Given the description of an element on the screen output the (x, y) to click on. 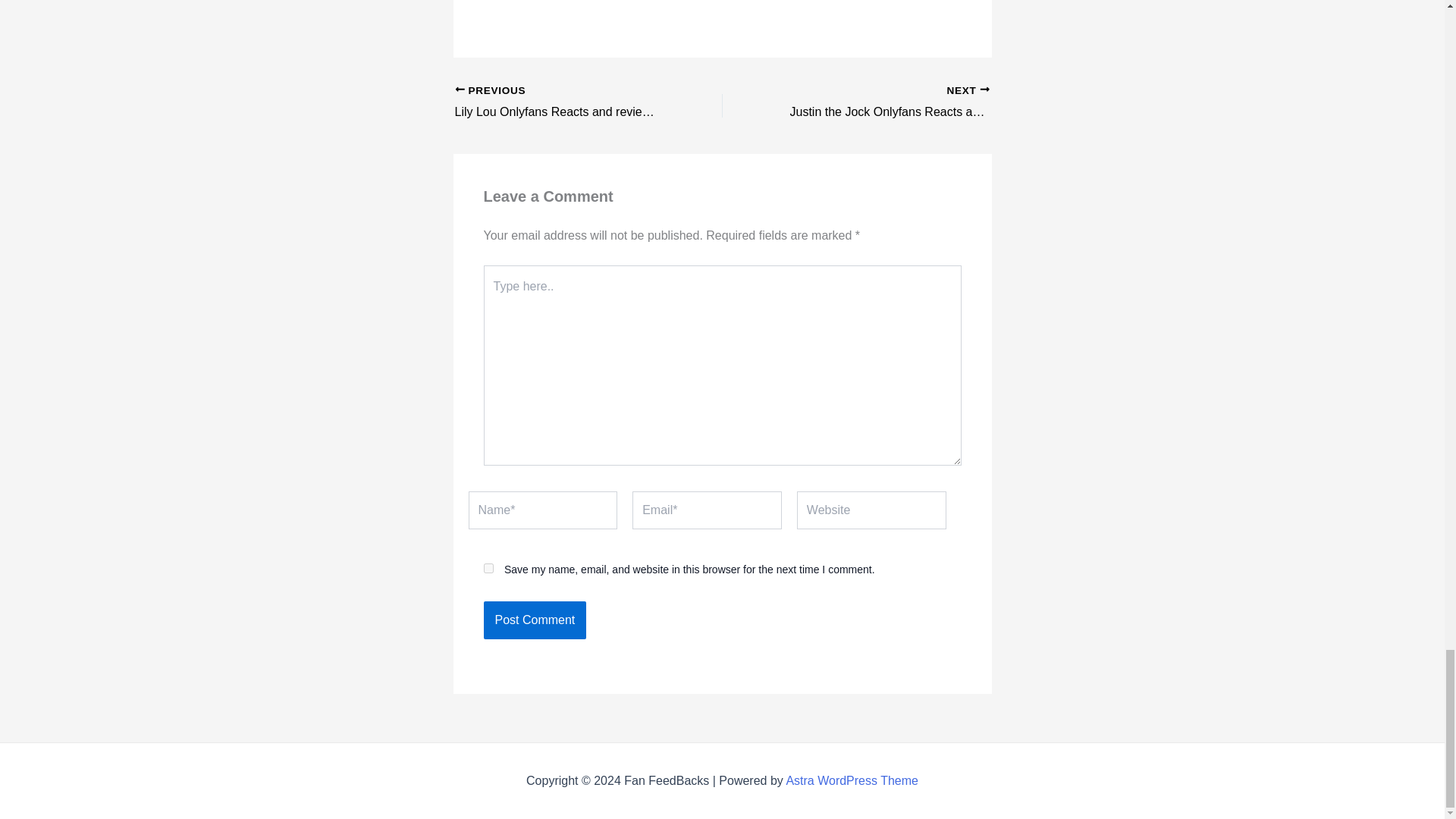
Astra WordPress Theme (852, 780)
Justin the Jock Onlyfans  Reacts and reviews (882, 102)
Lily Lou Onlyfans  Reacts and reviews (561, 102)
Post Comment (882, 102)
Post Comment (534, 620)
yes (534, 620)
